Given the description of an element on the screen output the (x, y) to click on. 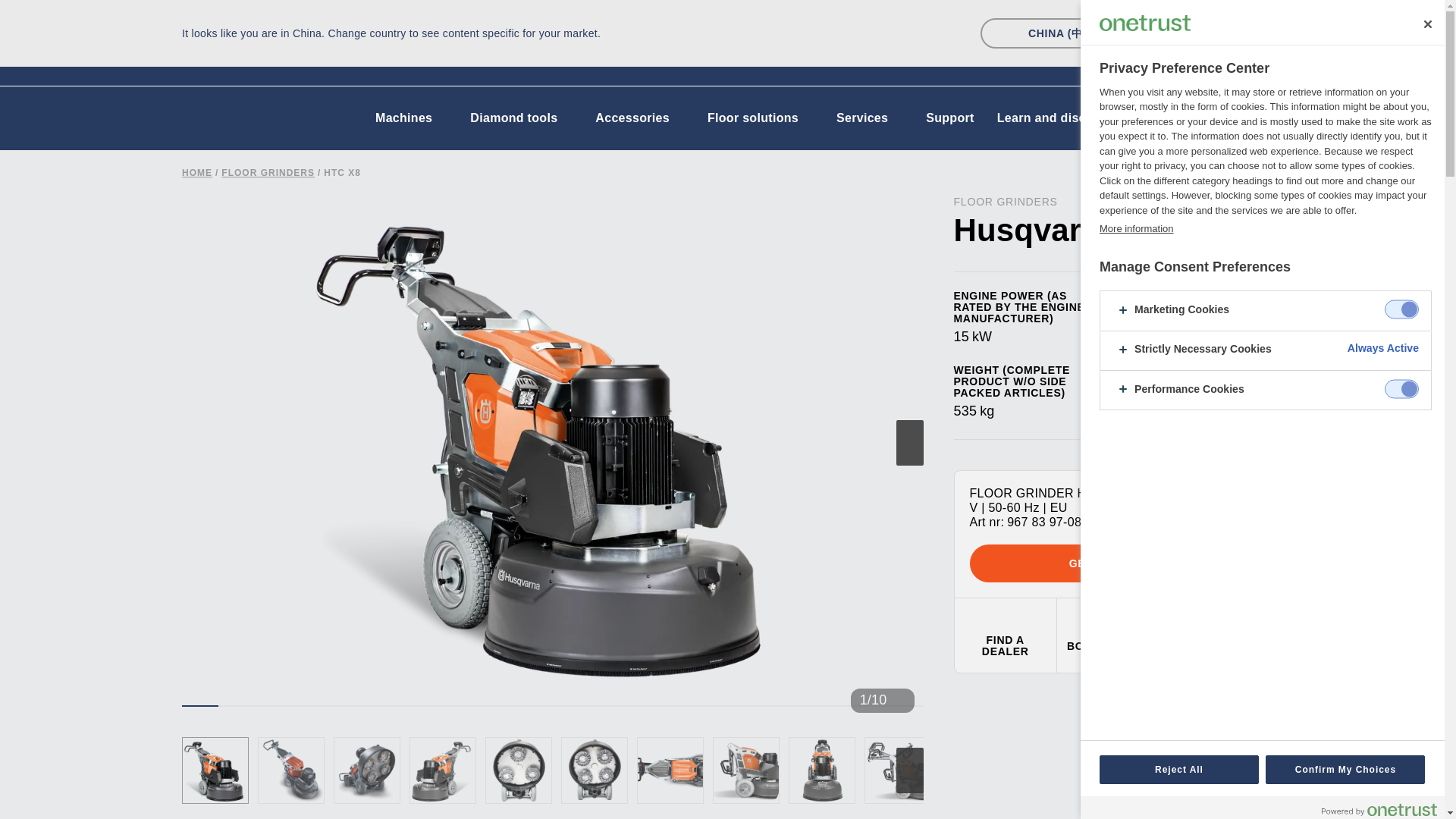
0 (593, 770)
Learn and discover (1054, 118)
Services (869, 118)
0 (897, 770)
0 (745, 770)
Accessories (639, 118)
0 (442, 770)
Floor solutions (760, 118)
Support (949, 118)
